Given the description of an element on the screen output the (x, y) to click on. 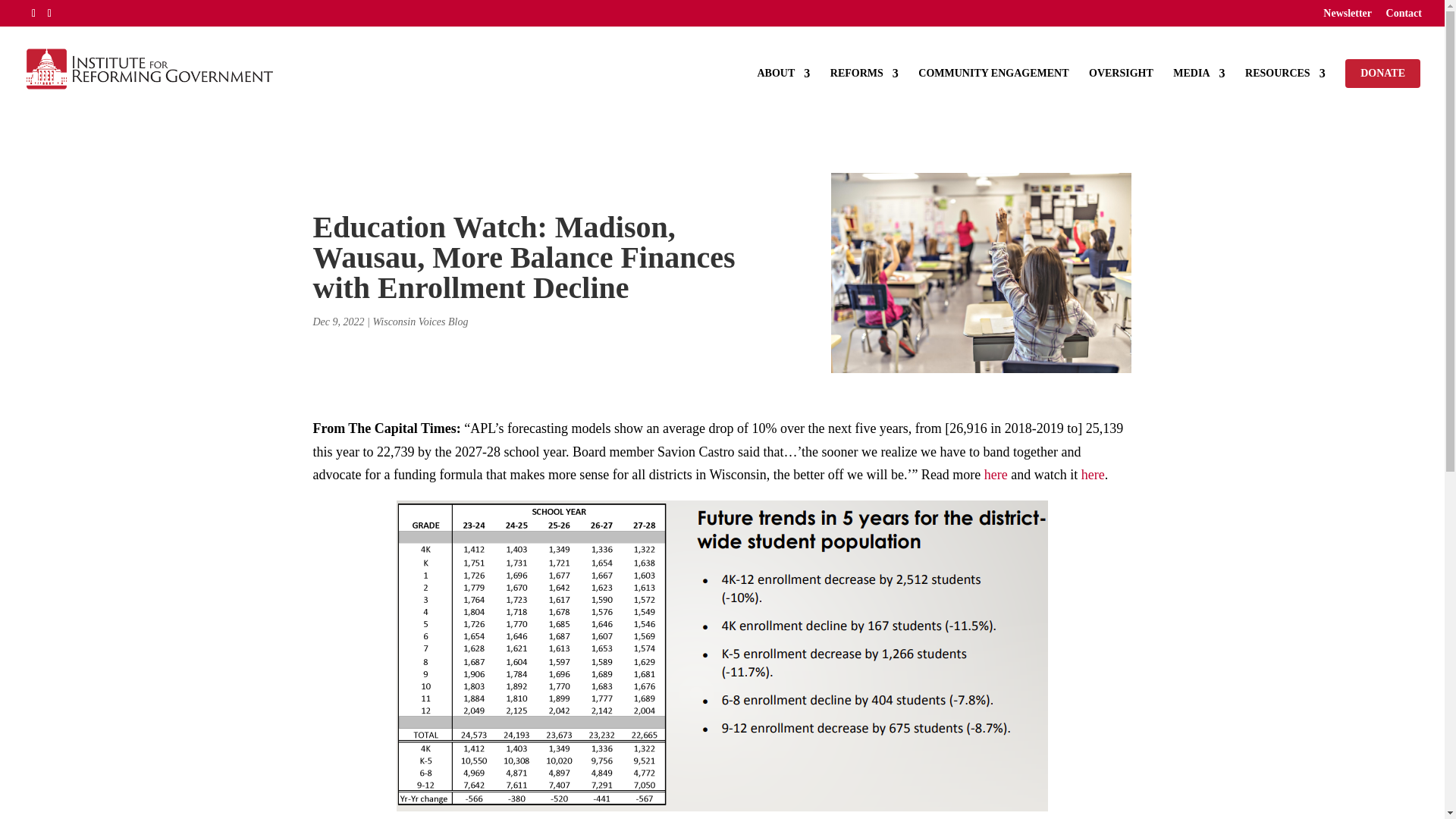
MEDIA (1198, 89)
DONATE (1383, 72)
will-education-reform-bg (981, 272)
REFORMS (863, 89)
Newsletter (1347, 16)
Contact (1404, 16)
COMMUNITY ENGAGEMENT (993, 89)
OVERSIGHT (1121, 89)
RESOURCES (1284, 89)
ABOUT (783, 89)
